Given the description of an element on the screen output the (x, y) to click on. 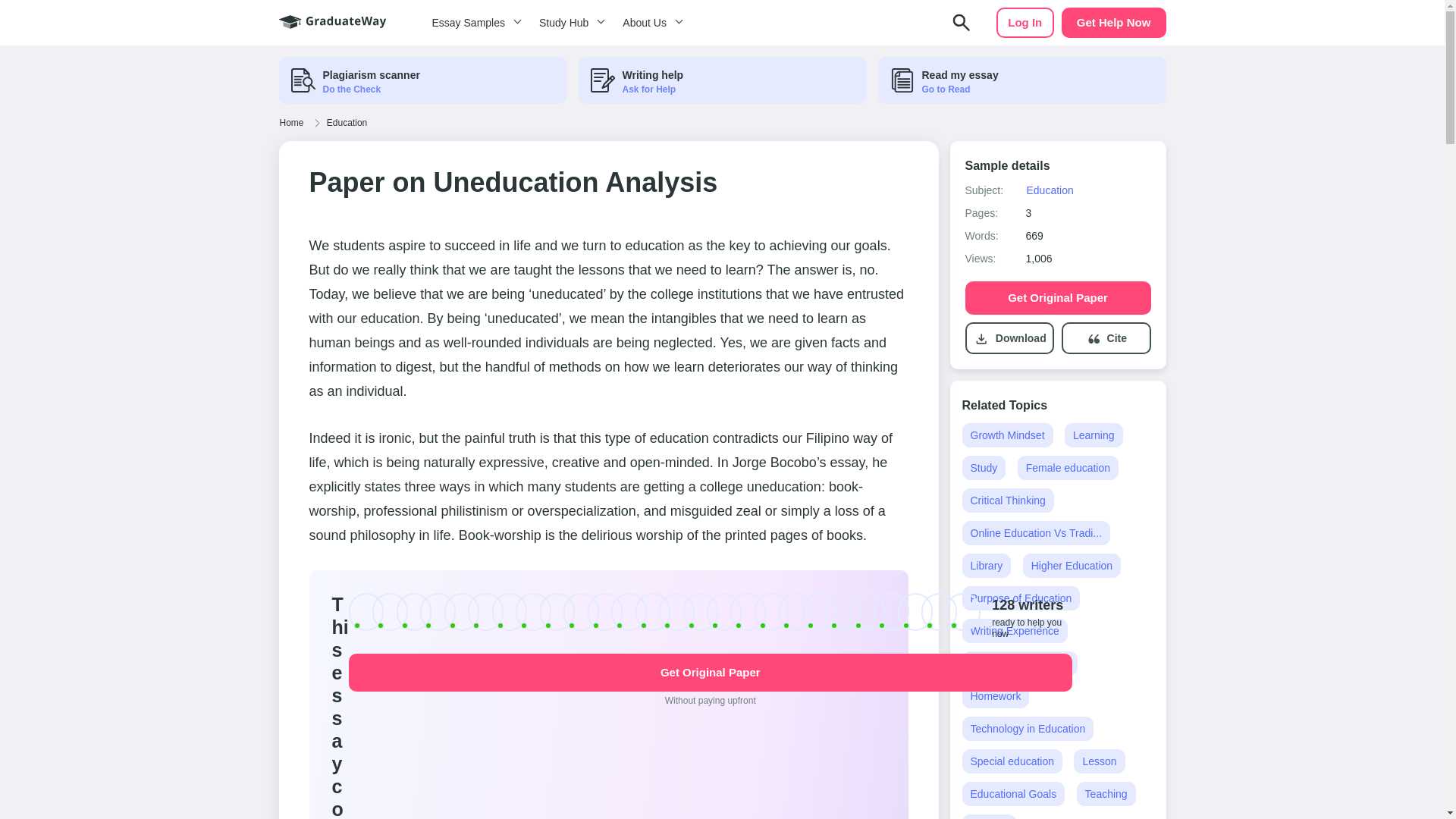
Education (1049, 190)
About Us (649, 22)
Essay Samples (473, 22)
Education (347, 122)
Cite (1116, 337)
Study Hub (569, 22)
Growth Mindset (1006, 435)
Home (291, 122)
Cite (1106, 337)
